Given the description of an element on the screen output the (x, y) to click on. 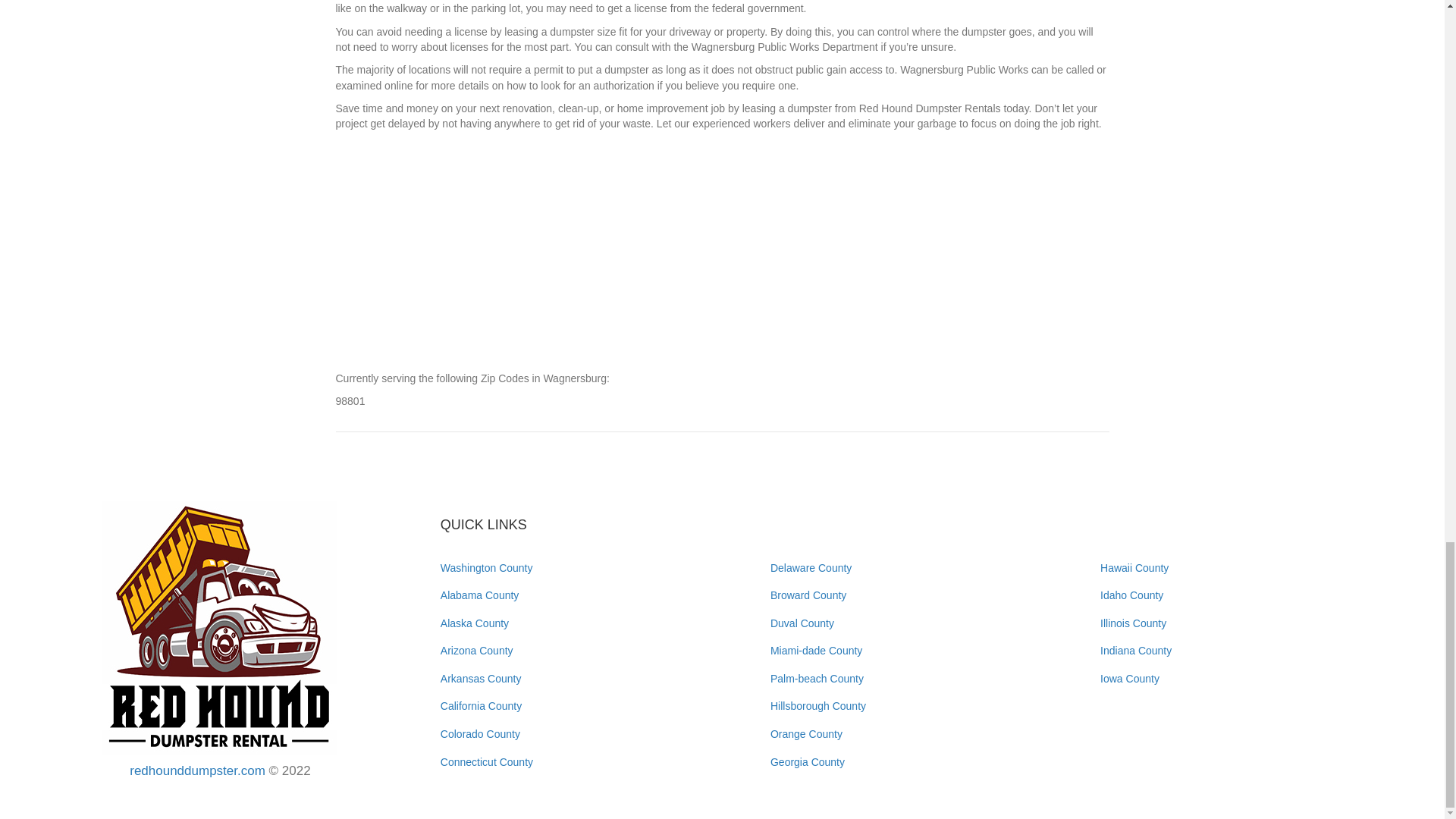
Washington County (486, 567)
redhounddumpster.com (196, 770)
redhounddumpster (219, 627)
Alabama County (480, 594)
